Given the description of an element on the screen output the (x, y) to click on. 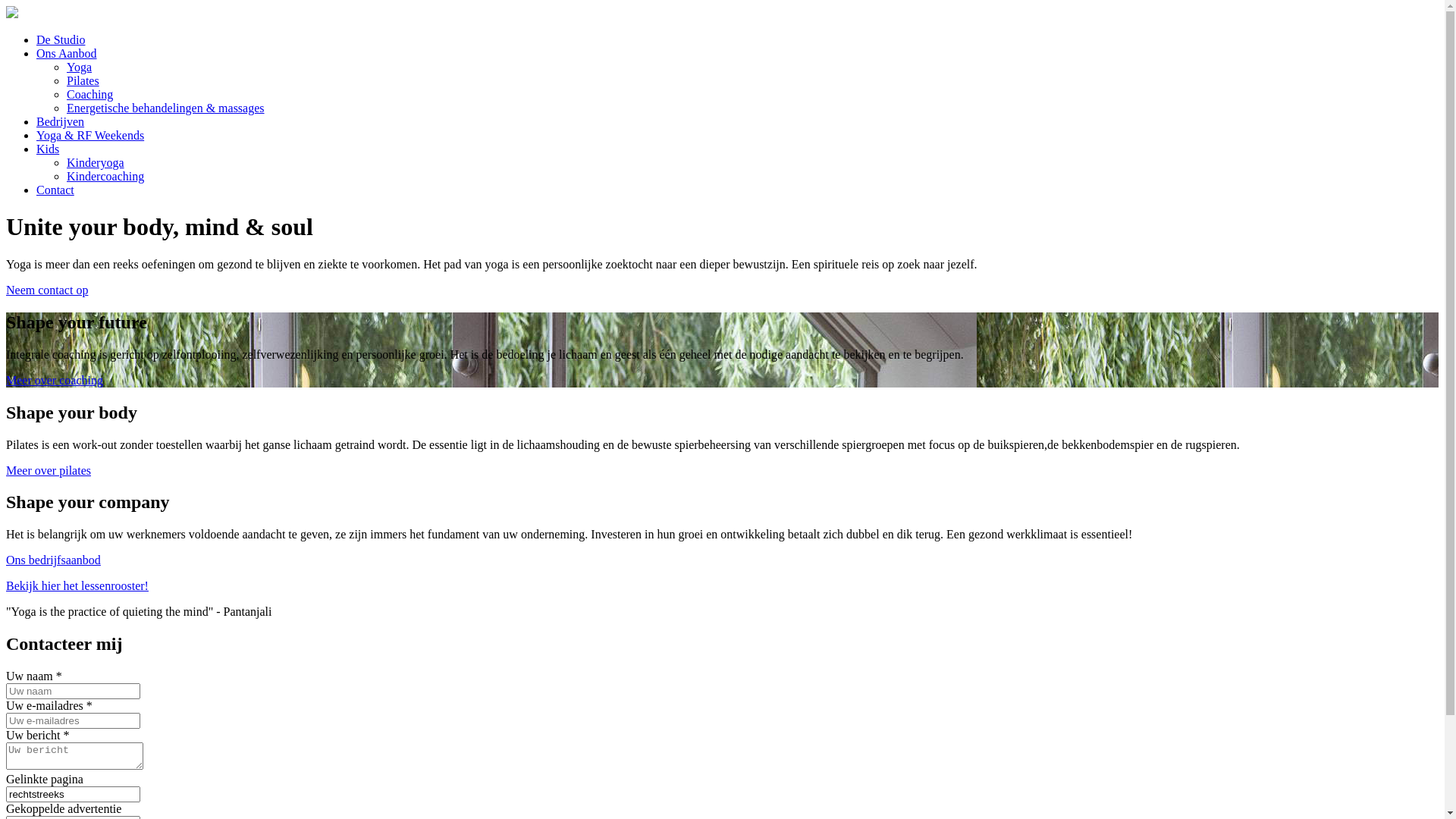
De Studio Element type: text (60, 39)
Energetische behandelingen & massages Element type: text (165, 107)
Contact Element type: text (55, 189)
Yoga Element type: text (78, 66)
Bekijk hier het lessenrooster! Element type: text (722, 586)
Meer over coaching Element type: text (54, 379)
Coaching Element type: text (89, 93)
Neem contact op Element type: text (46, 289)
Kindercoaching Element type: text (105, 175)
Pilates Element type: text (82, 80)
Meer over pilates Element type: text (48, 470)
Kinderyoga Element type: text (95, 162)
Yoga & RF Weekends Element type: text (90, 134)
Bedrijven Element type: text (60, 121)
Ons Aanbod Element type: text (66, 53)
Ons bedrijfsaanbod Element type: text (53, 559)
Kids Element type: text (47, 148)
